Given the description of an element on the screen output the (x, y) to click on. 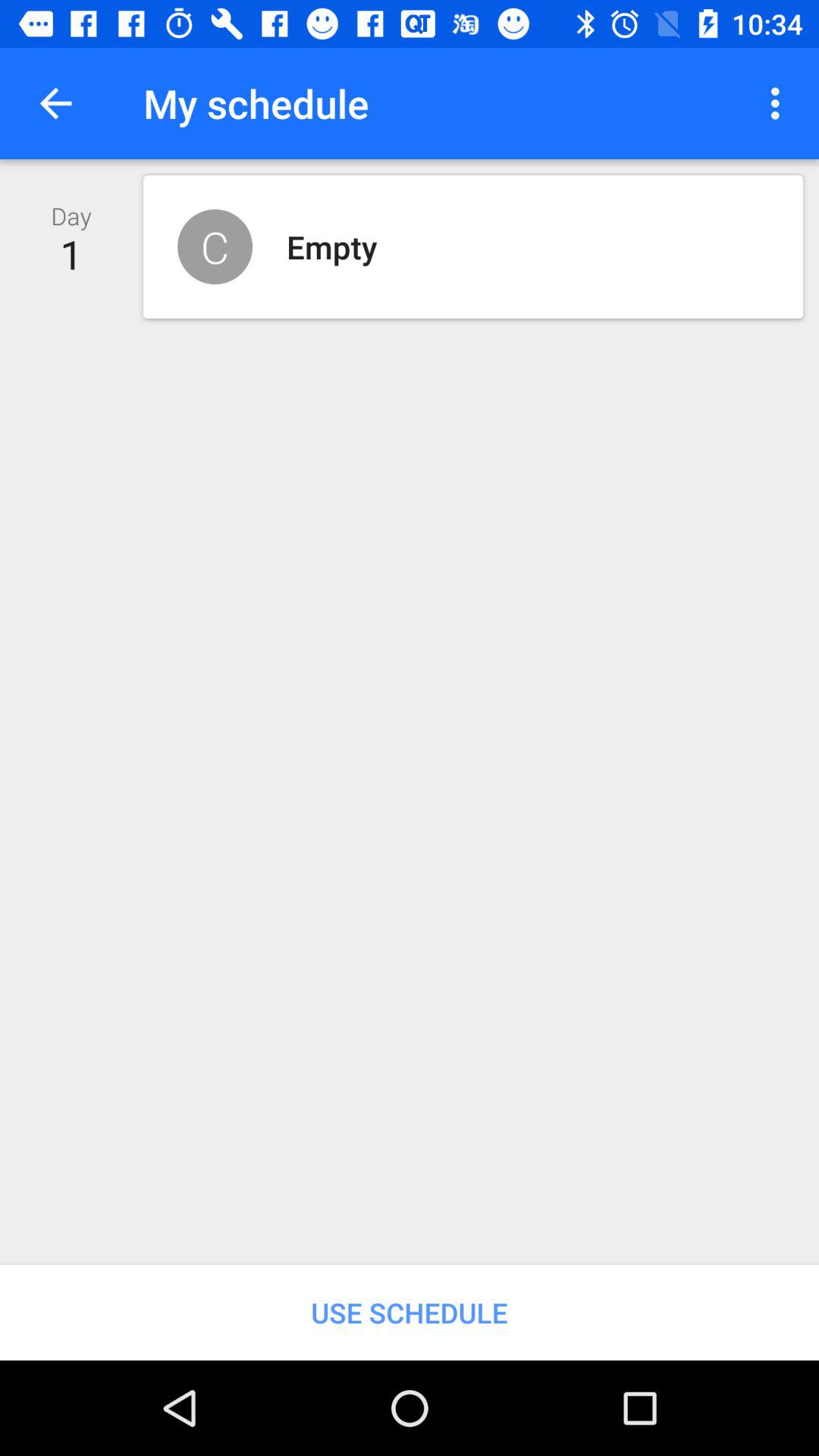
click the item above use schedule item (779, 103)
